Given the description of an element on the screen output the (x, y) to click on. 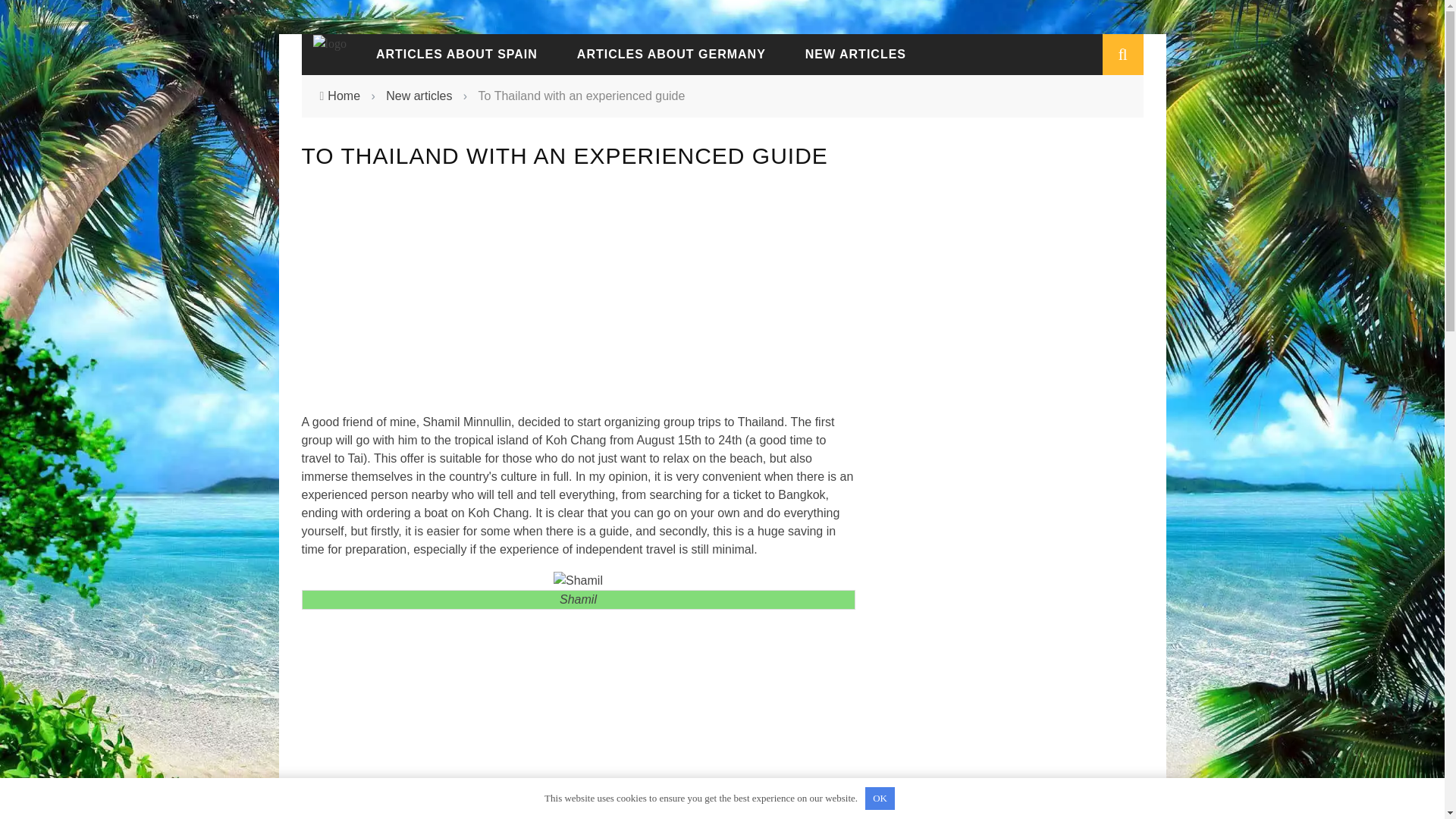
Shamil (577, 580)
NEW ARTICLES (855, 53)
ARTICLES ABOUT SPAIN (457, 53)
Advertisement (578, 714)
Advertisement (576, 305)
Home (343, 95)
New articles (418, 95)
ARTICLES ABOUT GERMANY (671, 53)
